Given the description of an element on the screen output the (x, y) to click on. 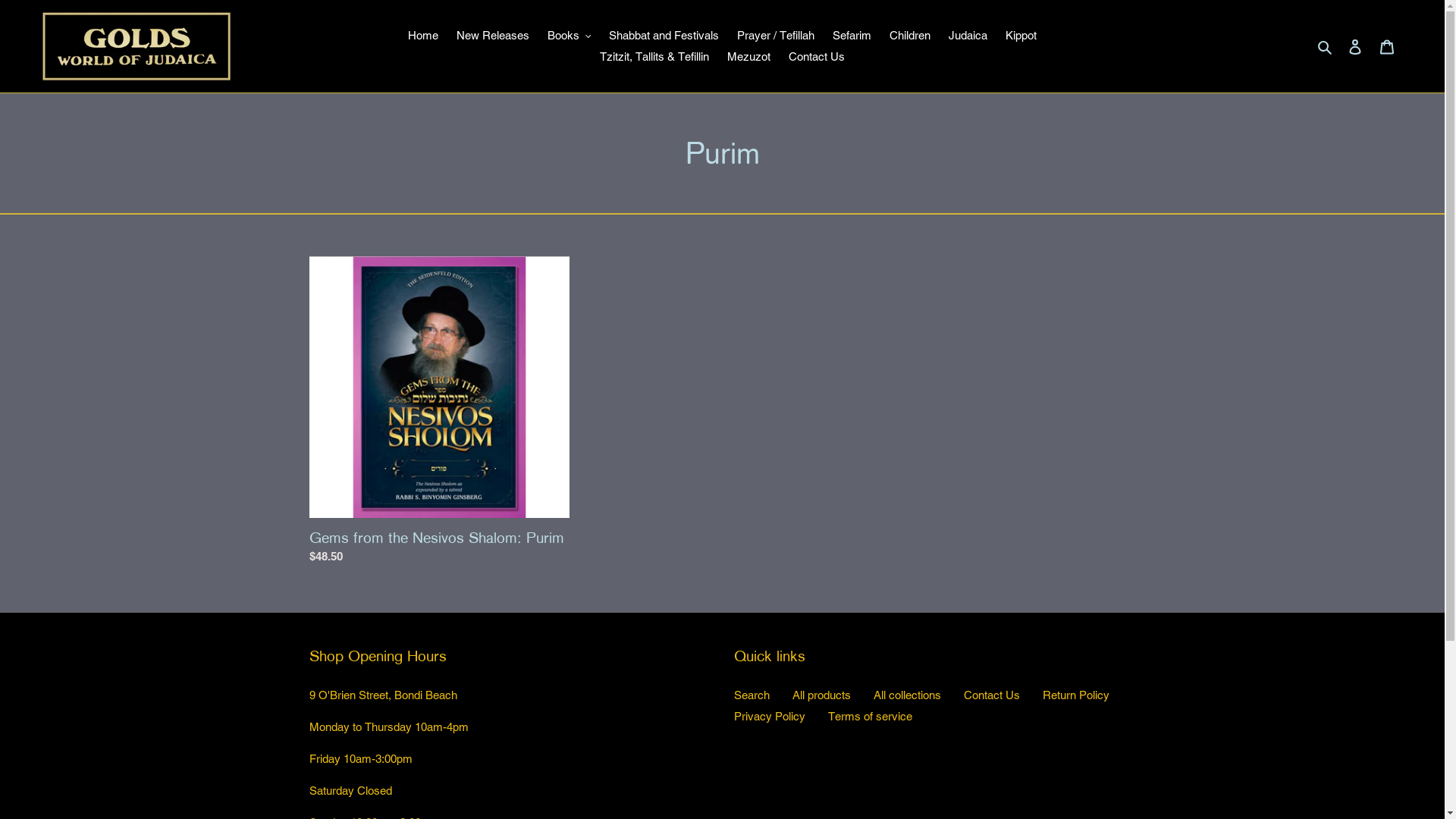
Judaica Element type: text (967, 36)
Sefarim Element type: text (851, 36)
Home Element type: text (422, 36)
Privacy Policy Element type: text (769, 715)
Search Element type: text (751, 694)
Contact Us Element type: text (816, 57)
Search Element type: text (1325, 46)
Gems from the Nesivos Shalom: Purim Element type: text (439, 413)
Log in Element type: text (1355, 46)
Cart Element type: text (1386, 46)
New Releases Element type: text (492, 36)
Tzitzit, Tallits & Tefillin Element type: text (654, 57)
Terms of service Element type: text (870, 715)
Contact Us Element type: text (991, 694)
All collections Element type: text (907, 694)
Return Policy Element type: text (1074, 694)
Prayer / Tefillah Element type: text (775, 36)
Mezuzot Element type: text (748, 57)
Children Element type: text (909, 36)
Shabbat and Festivals Element type: text (663, 36)
Kippot Element type: text (1020, 36)
All products Element type: text (820, 694)
Books Element type: text (569, 36)
